Given the description of an element on the screen output the (x, y) to click on. 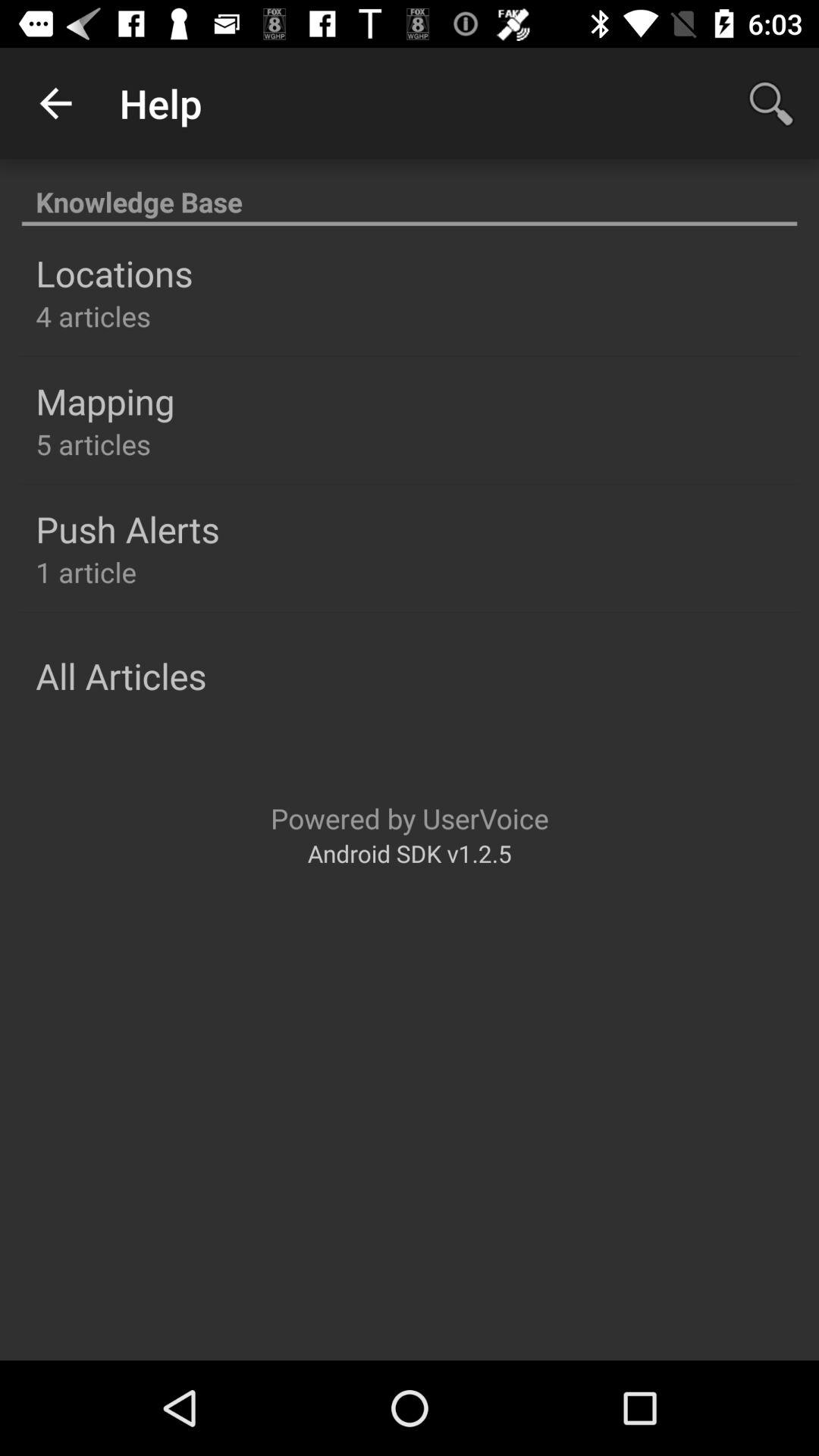
open the icon below the all articles item (409, 818)
